Given the description of an element on the screen output the (x, y) to click on. 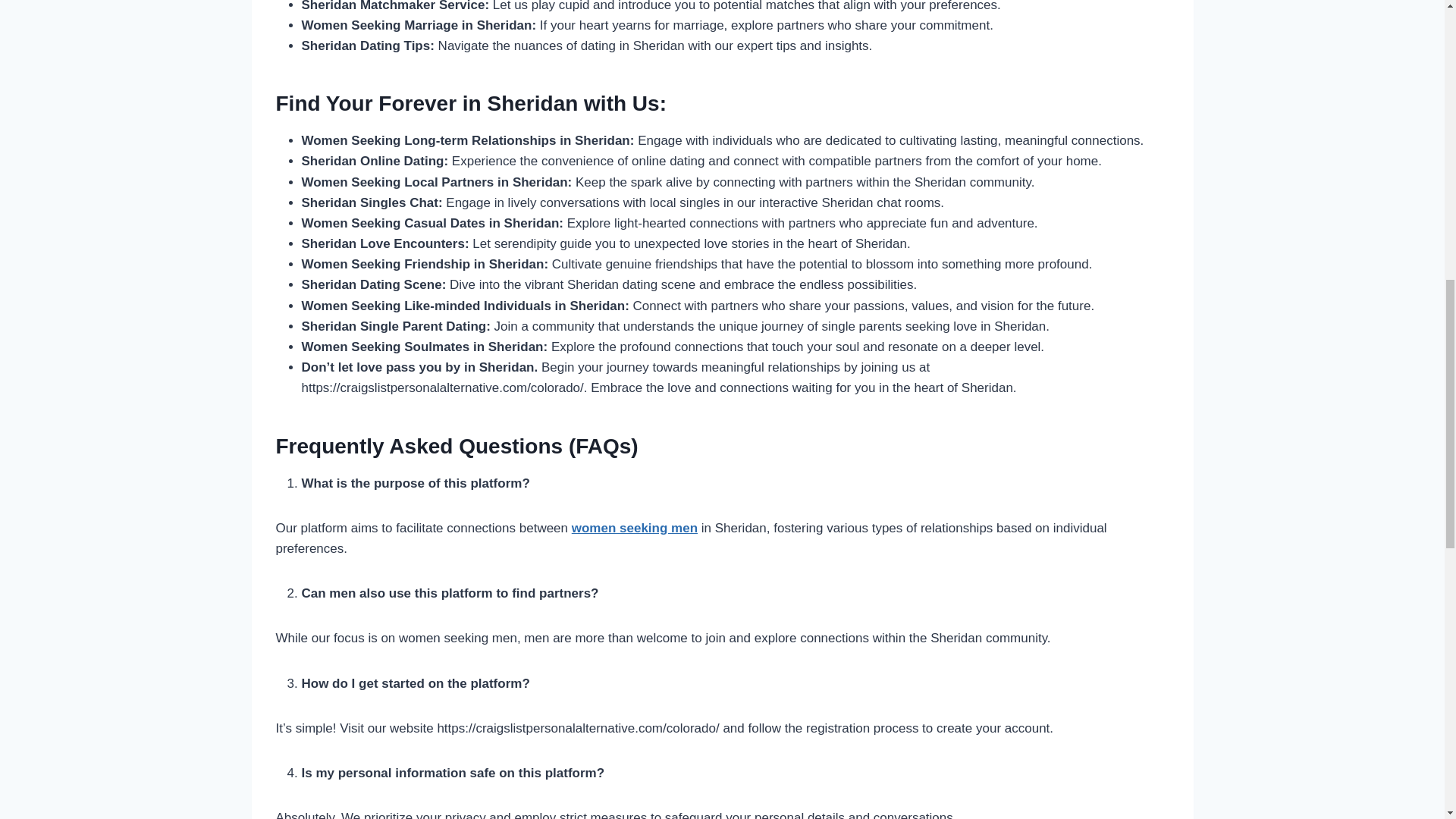
women seeking men (634, 527)
